Given the description of an element on the screen output the (x, y) to click on. 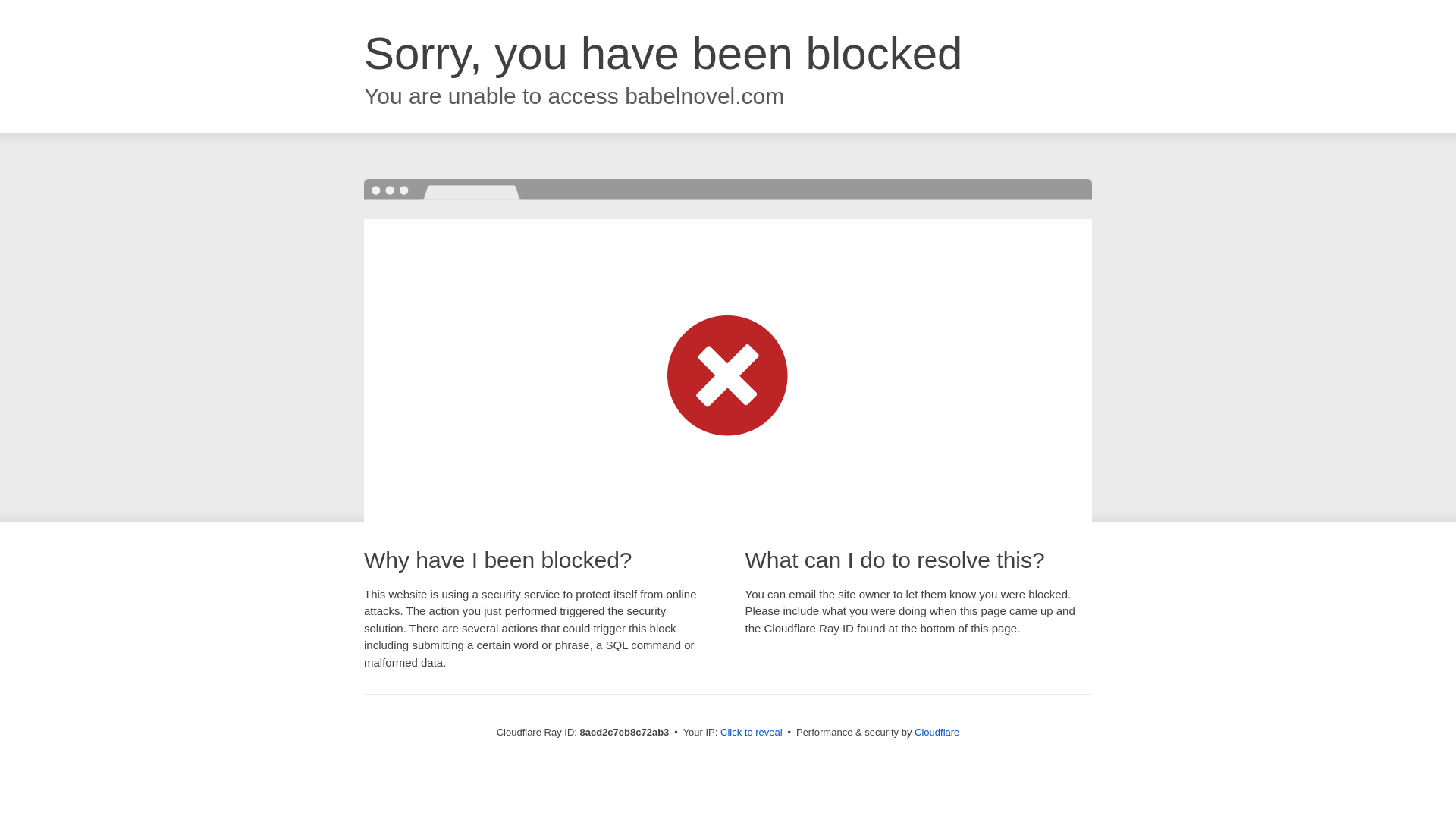
Click to reveal (751, 732)
Cloudflare (936, 731)
